Given the description of an element on the screen output the (x, y) to click on. 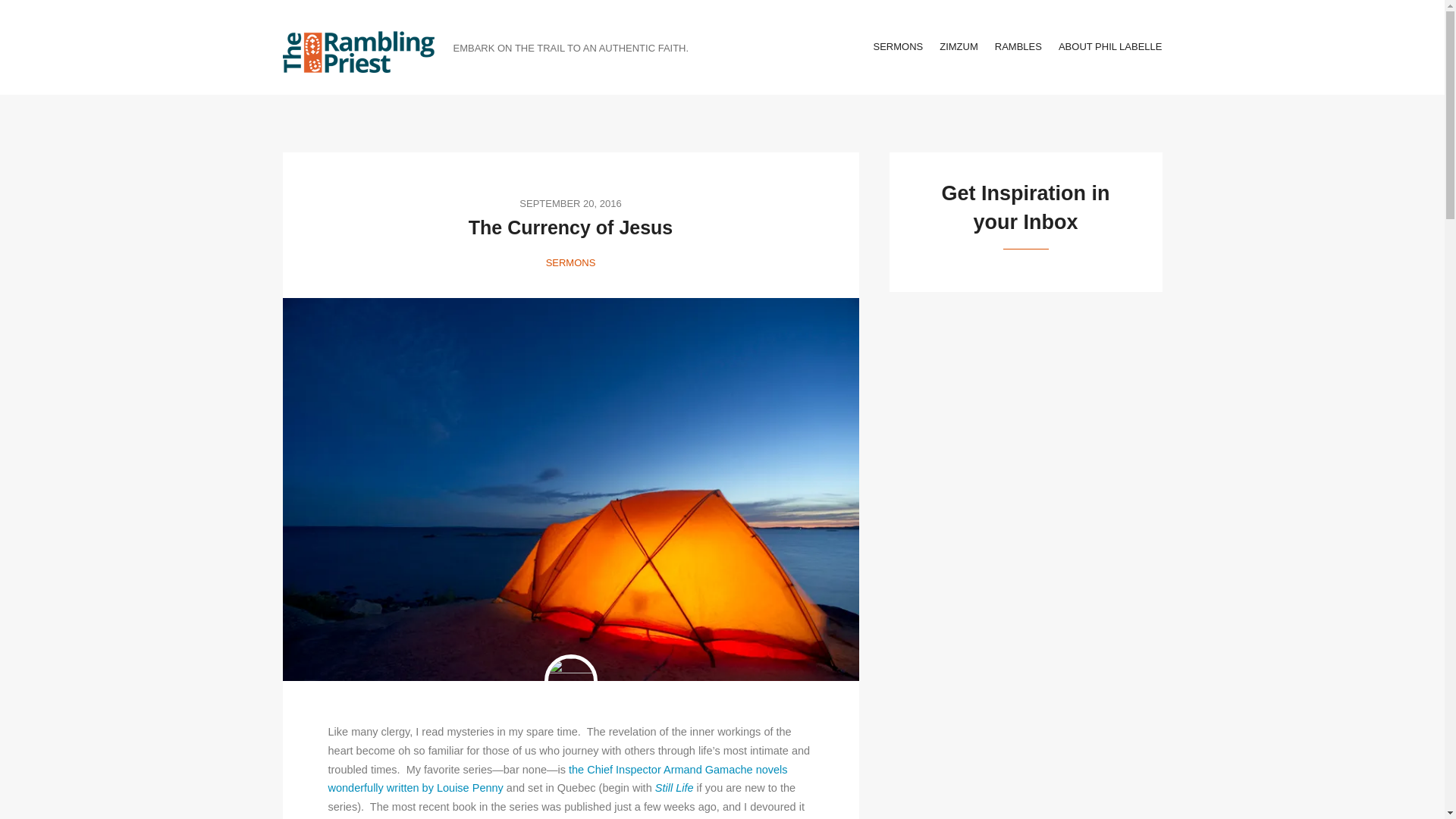
SERMONS (898, 45)
Still Life (674, 787)
RAMBLES (1018, 45)
ABOUT PHIL LABELLE (1109, 45)
Phil LaBelle (570, 680)
SERMONS (570, 262)
ZIMZUM (958, 45)
